Given the description of an element on the screen output the (x, y) to click on. 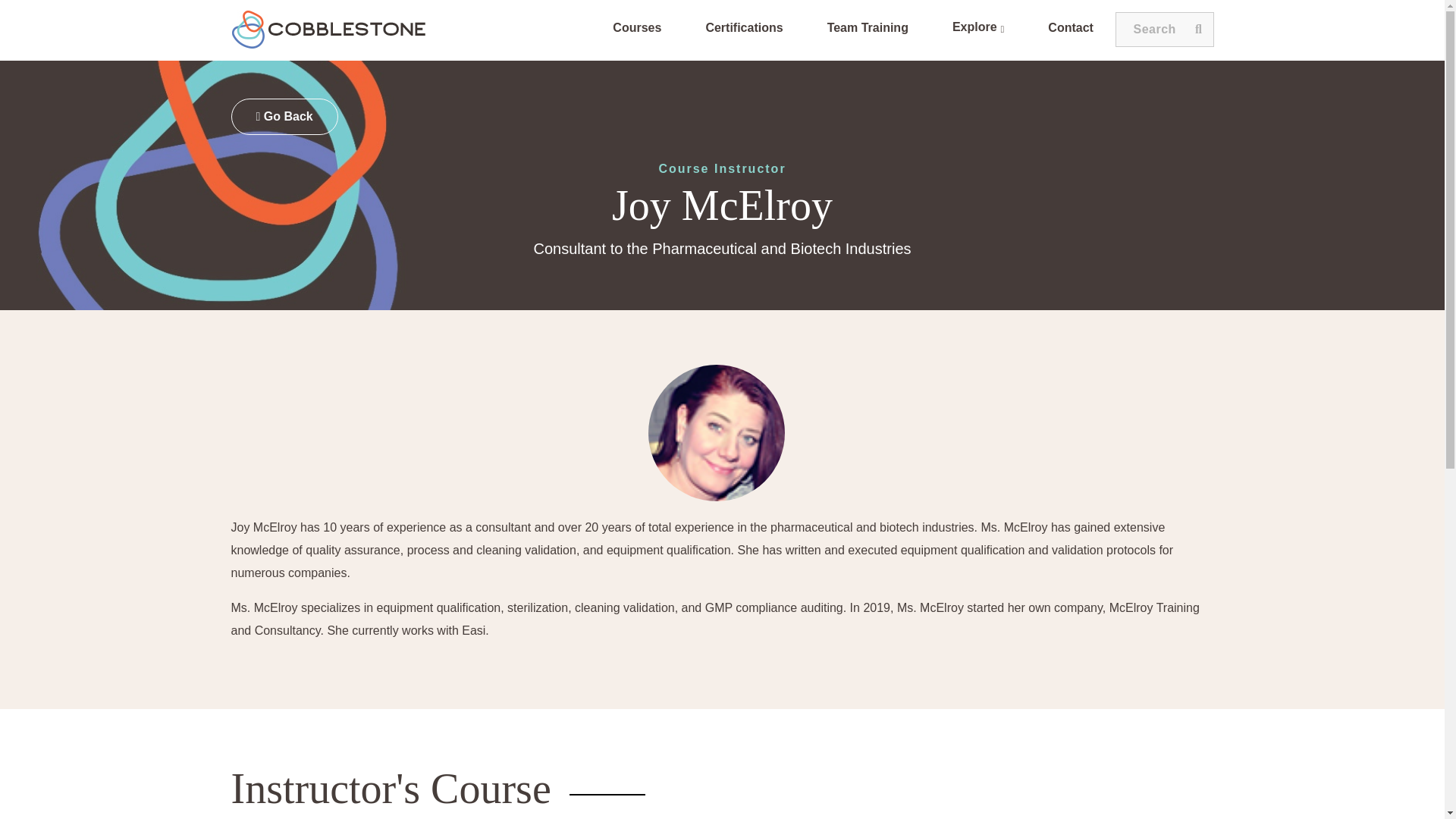
Search (1164, 29)
Courses (636, 29)
Explore (978, 29)
Contact (1070, 29)
Team Training (867, 29)
Certifications (743, 29)
Go Back (283, 116)
